Given the description of an element on the screen output the (x, y) to click on. 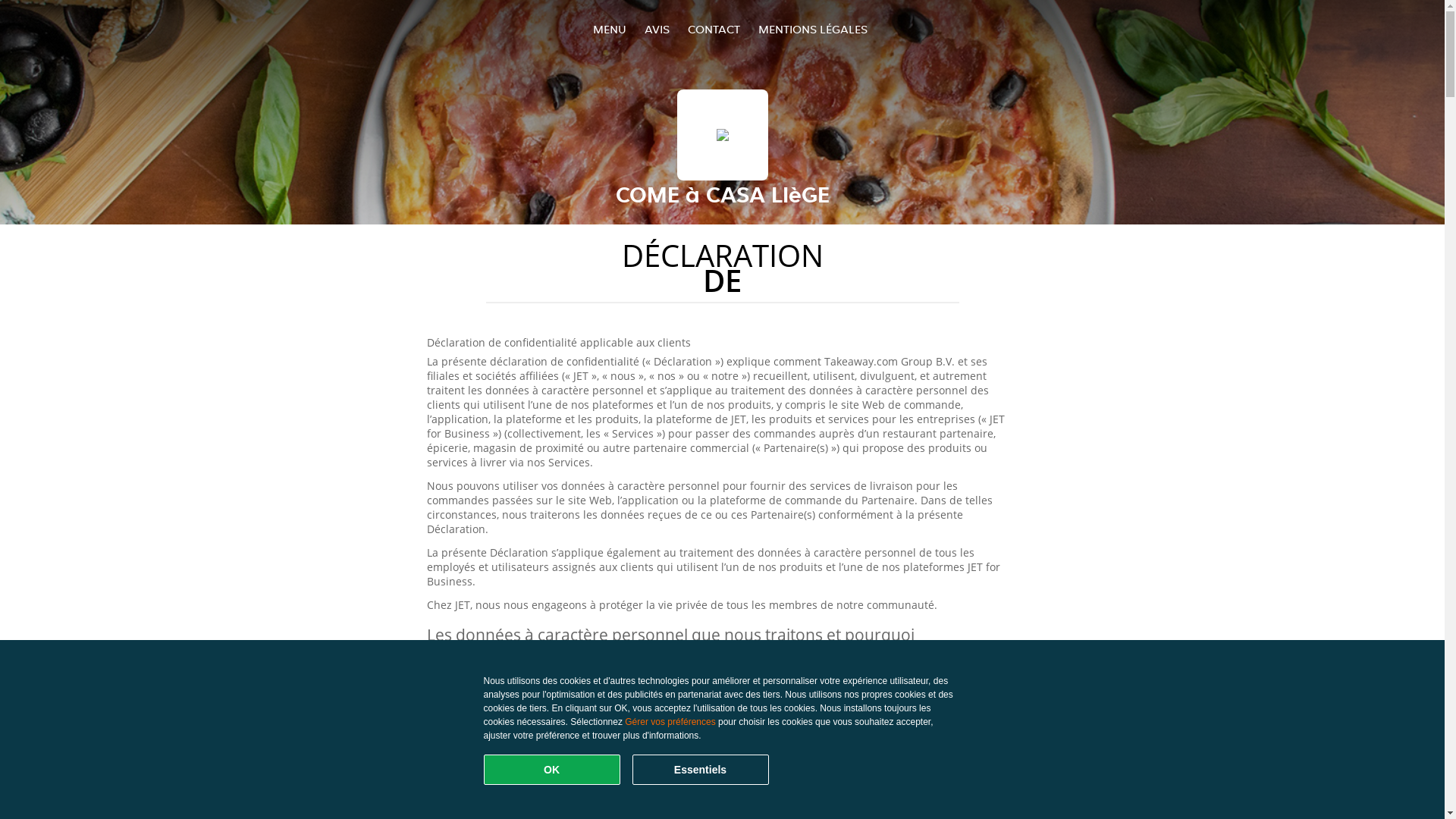
OK Element type: text (551, 769)
AVIS Element type: text (656, 29)
Essentiels Element type: text (700, 769)
CONTACT Element type: text (713, 29)
MENU Element type: text (609, 29)
